Given the description of an element on the screen output the (x, y) to click on. 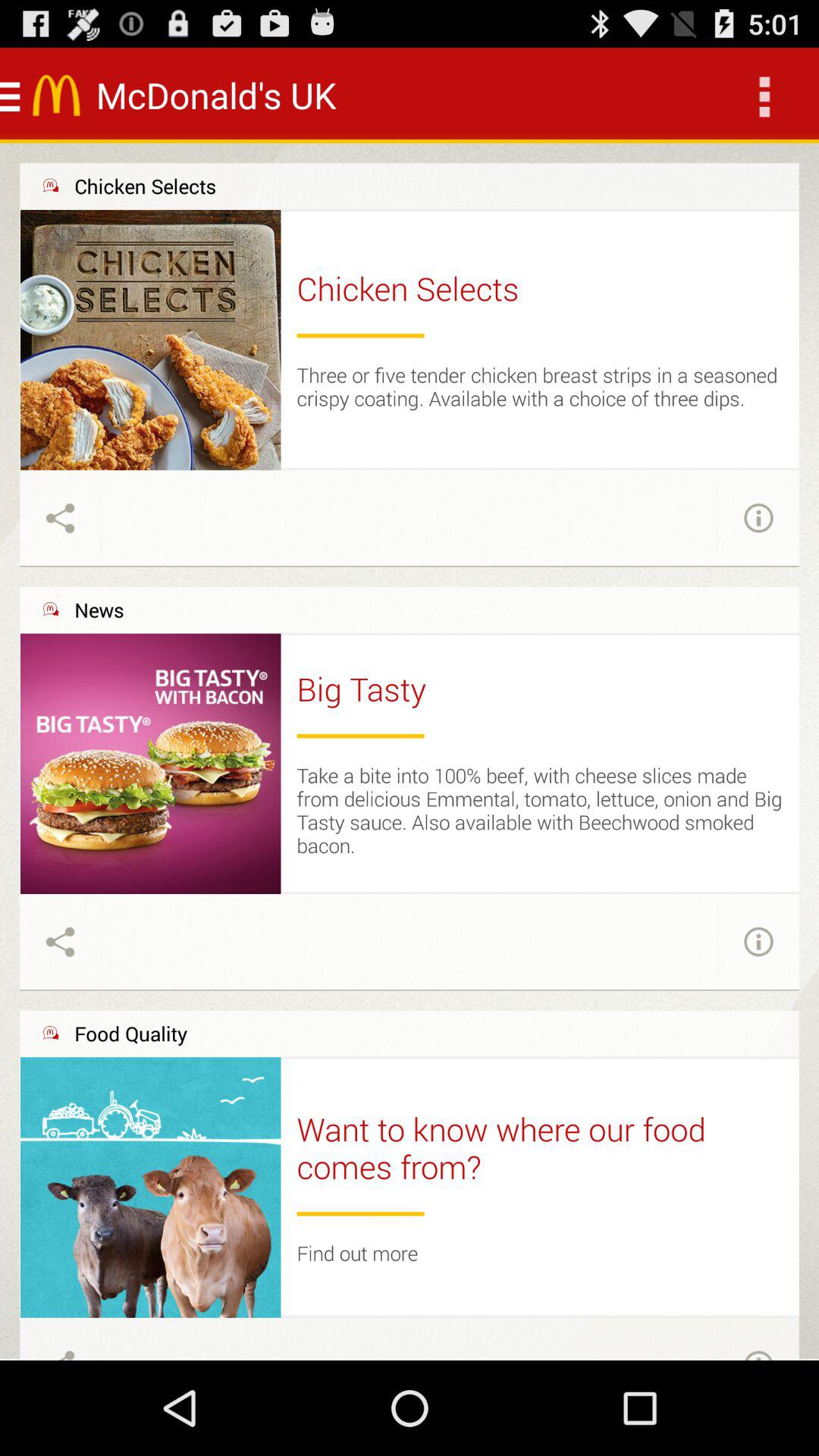
choose the icon above the food quality icon (409, 989)
